Given the description of an element on the screen output the (x, y) to click on. 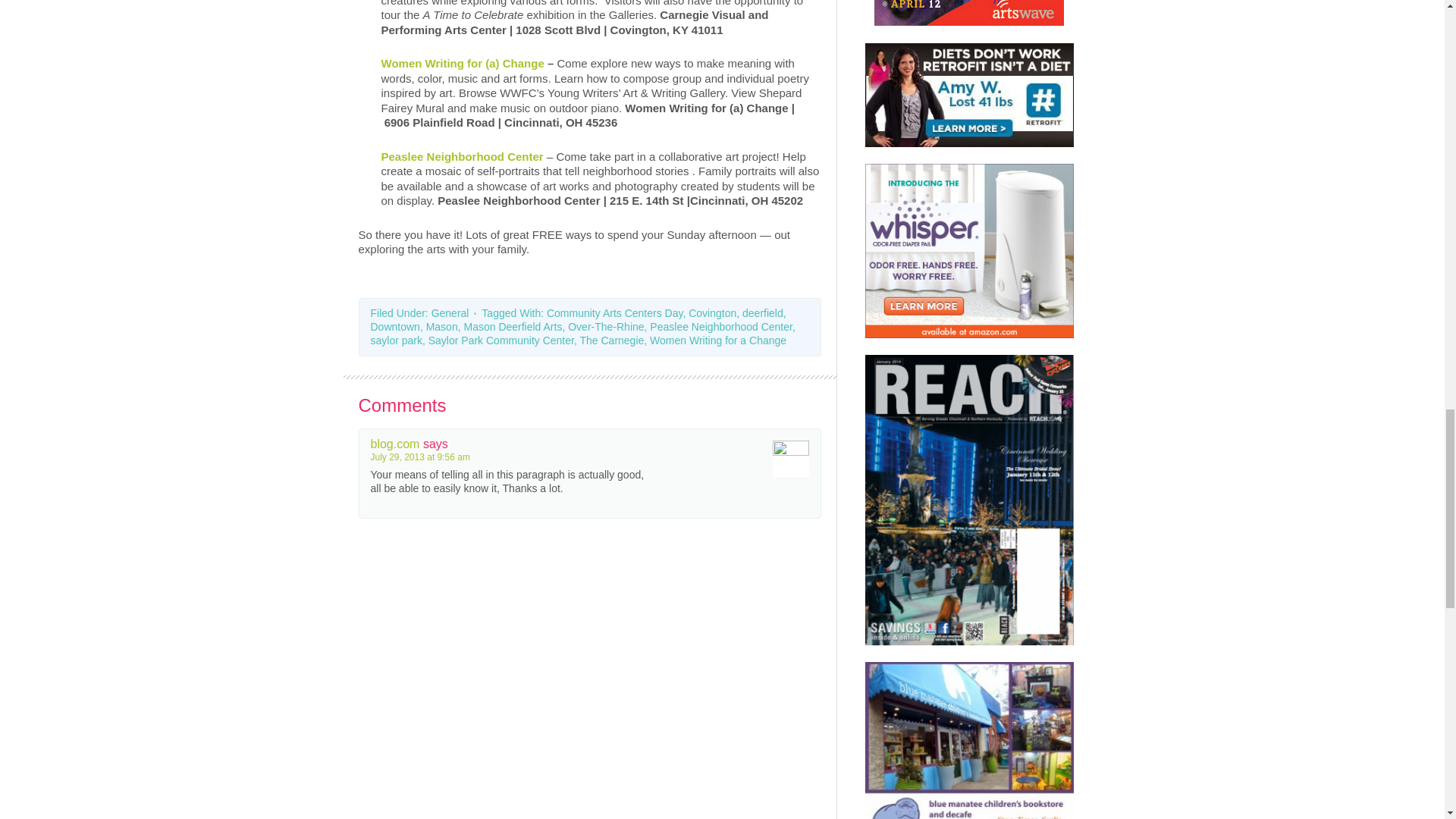
Women Writing for a Change (461, 62)
Peaslee Neighborhood Center (461, 155)
